Given the description of an element on the screen output the (x, y) to click on. 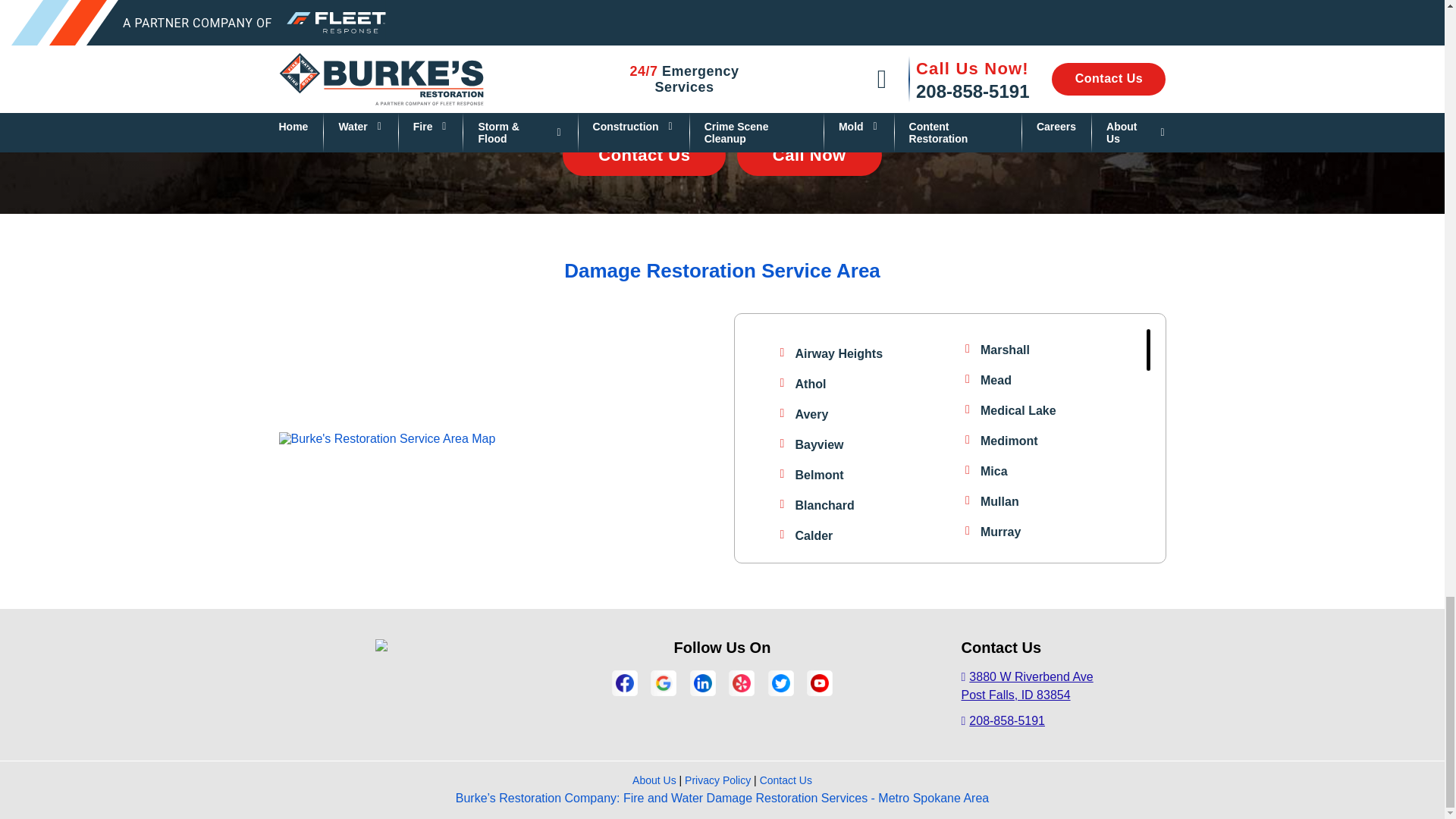
View Youtube (819, 681)
View Twitter (780, 681)
View Facebook (625, 681)
View Yelp (741, 681)
View LinkedIn (702, 681)
View Google (662, 681)
